Given the description of an element on the screen output the (x, y) to click on. 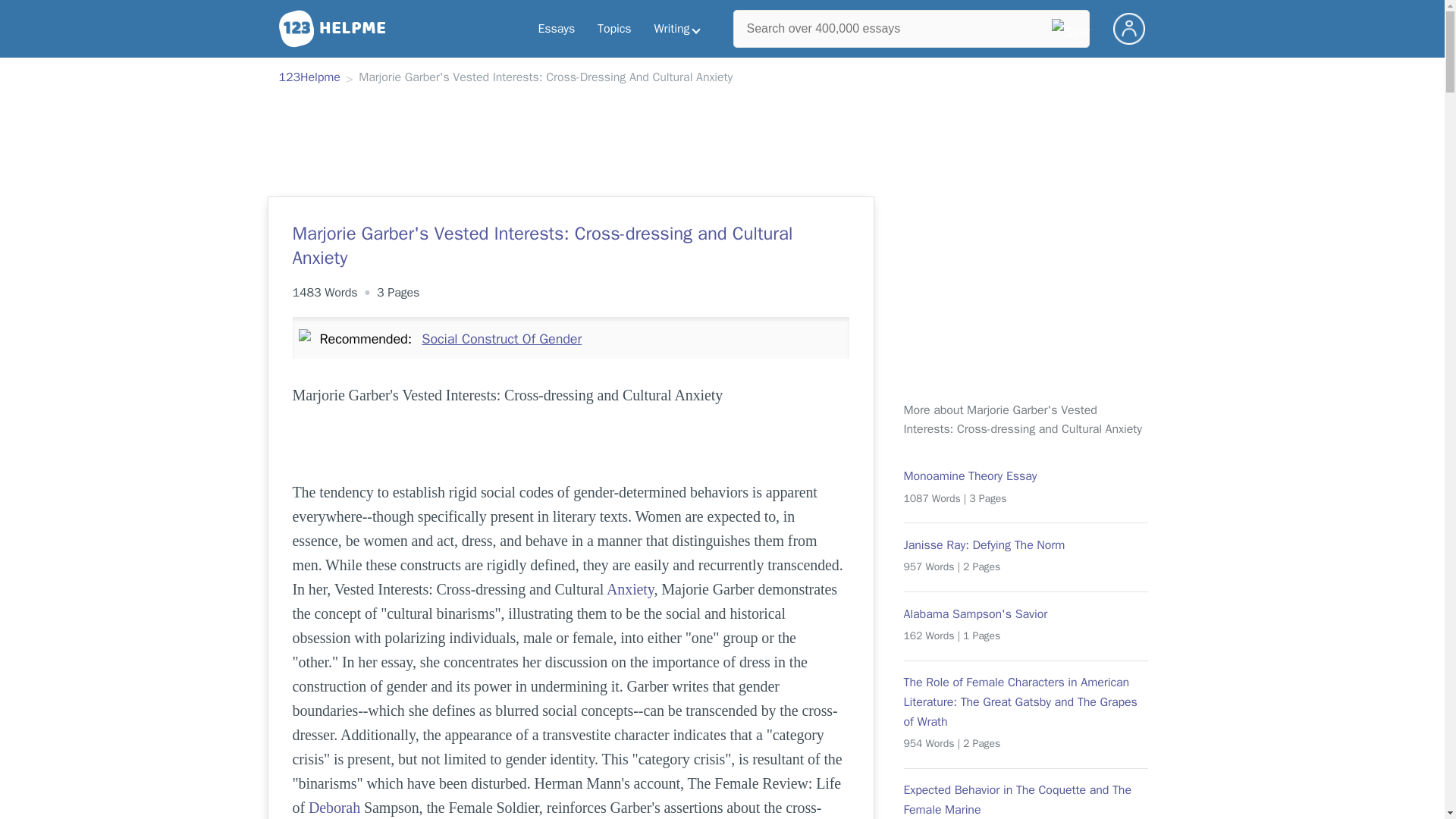
Social Construct Of Gender (501, 338)
Topics (614, 28)
Anxiety (630, 588)
Deborah (333, 807)
123Helpme (309, 78)
Writing (677, 28)
Essays (555, 28)
